Given the description of an element on the screen output the (x, y) to click on. 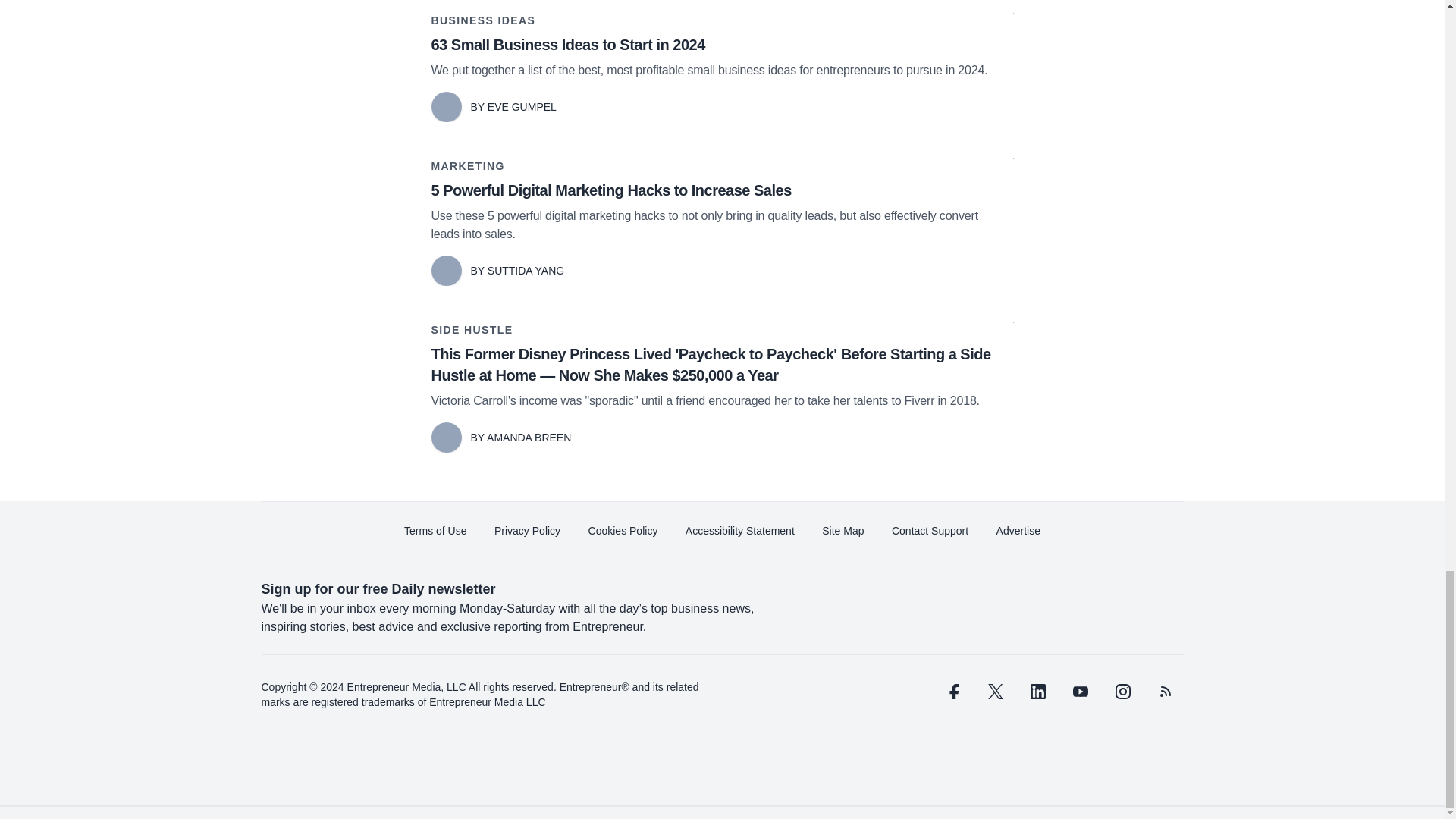
youtube (1079, 691)
twitter (994, 691)
rss (1164, 691)
facebook (952, 691)
instagram (1121, 691)
linkedin (1037, 691)
